Given the description of an element on the screen output the (x, y) to click on. 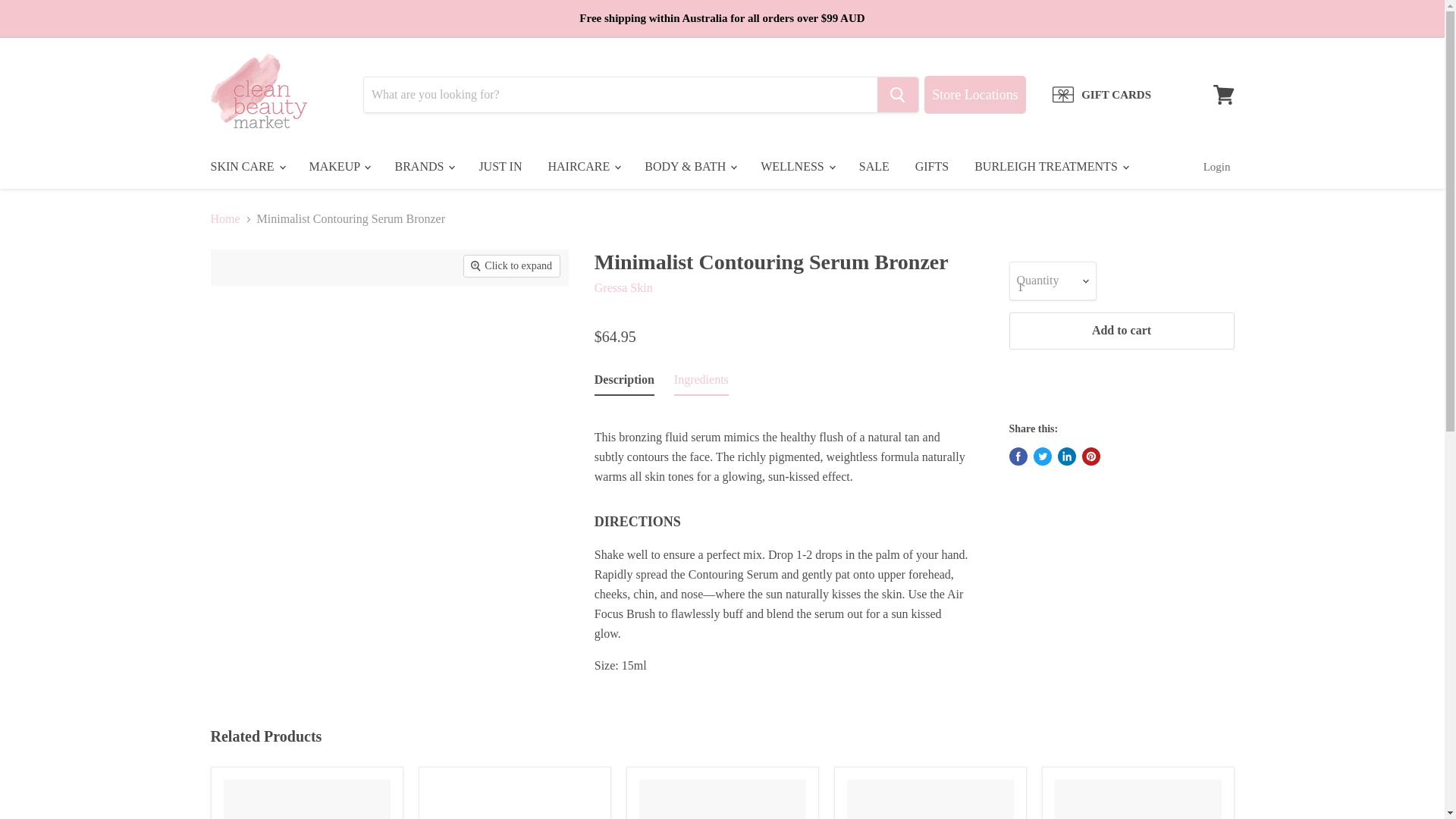
SKIN CARE (246, 166)
Store Locations (974, 94)
View cart (1223, 94)
